Given the description of an element on the screen output the (x, y) to click on. 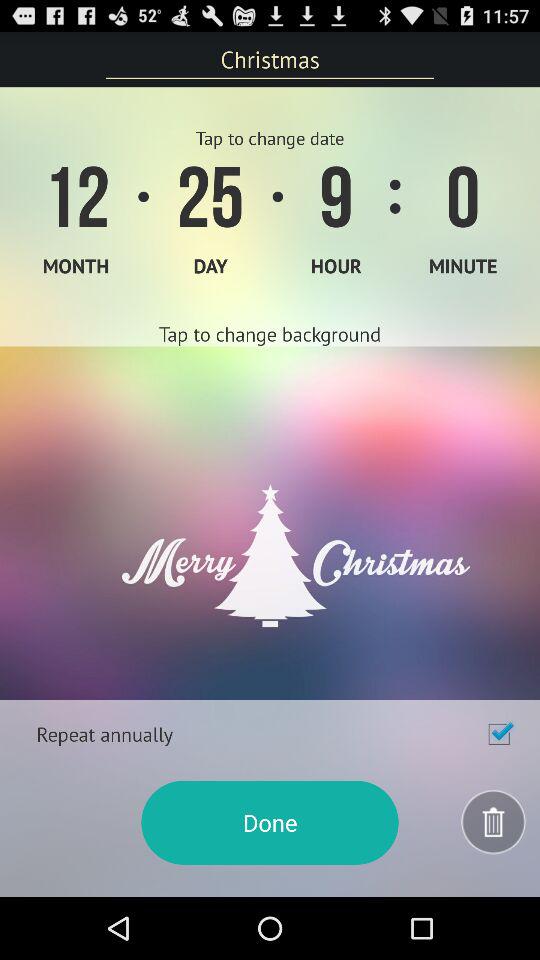
switch autoplay option (499, 734)
